Given the description of an element on the screen output the (x, y) to click on. 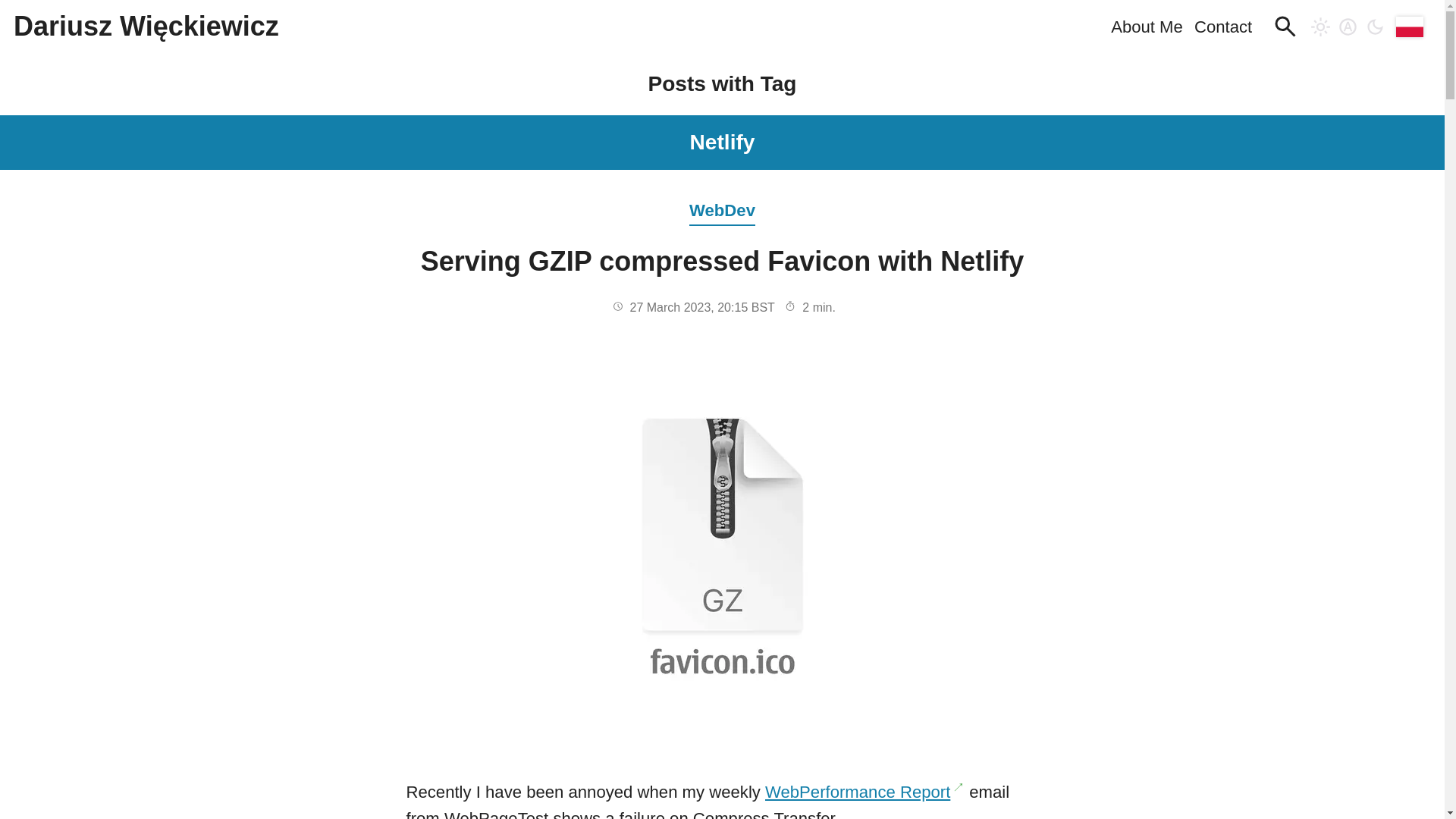
Light mode (1320, 26)
Read this in Polish (1409, 26)
Dark mode (1375, 26)
WebPerformance Report (864, 791)
Serving GZIP compressed Favicon with Netlify (722, 260)
Search (1284, 26)
Contact (1223, 26)
Auto mode (1348, 26)
Read this in Polish (1409, 26)
WebDev (721, 197)
About Me (1147, 26)
